Given the description of an element on the screen output the (x, y) to click on. 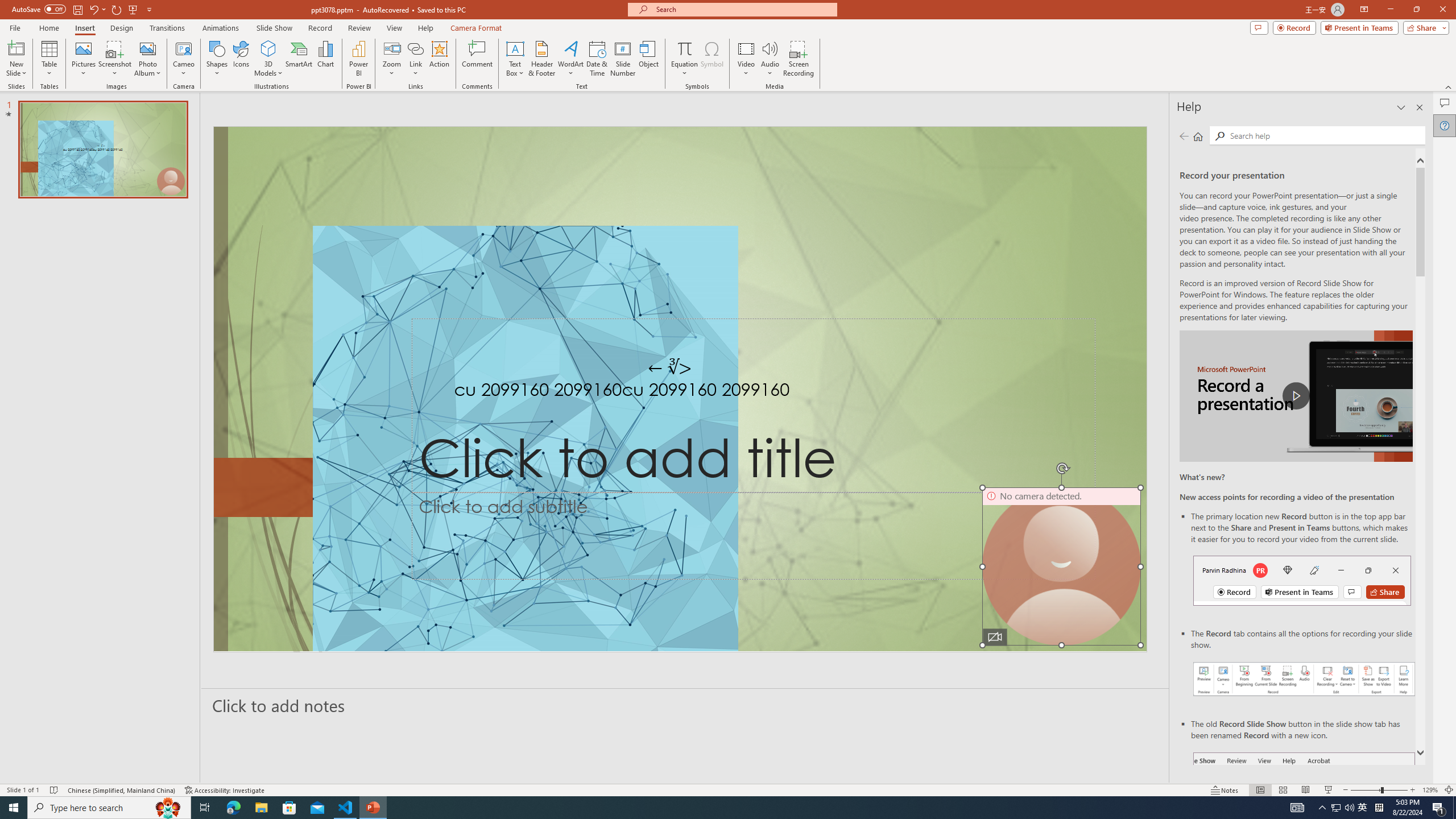
WordArt (570, 58)
Record your presentations screenshot one (1304, 678)
Table (49, 58)
Camera 9, No camera detected. (1061, 566)
Equation (683, 58)
Record button in top bar (1301, 580)
Screenshot (114, 58)
